Given the description of an element on the screen output the (x, y) to click on. 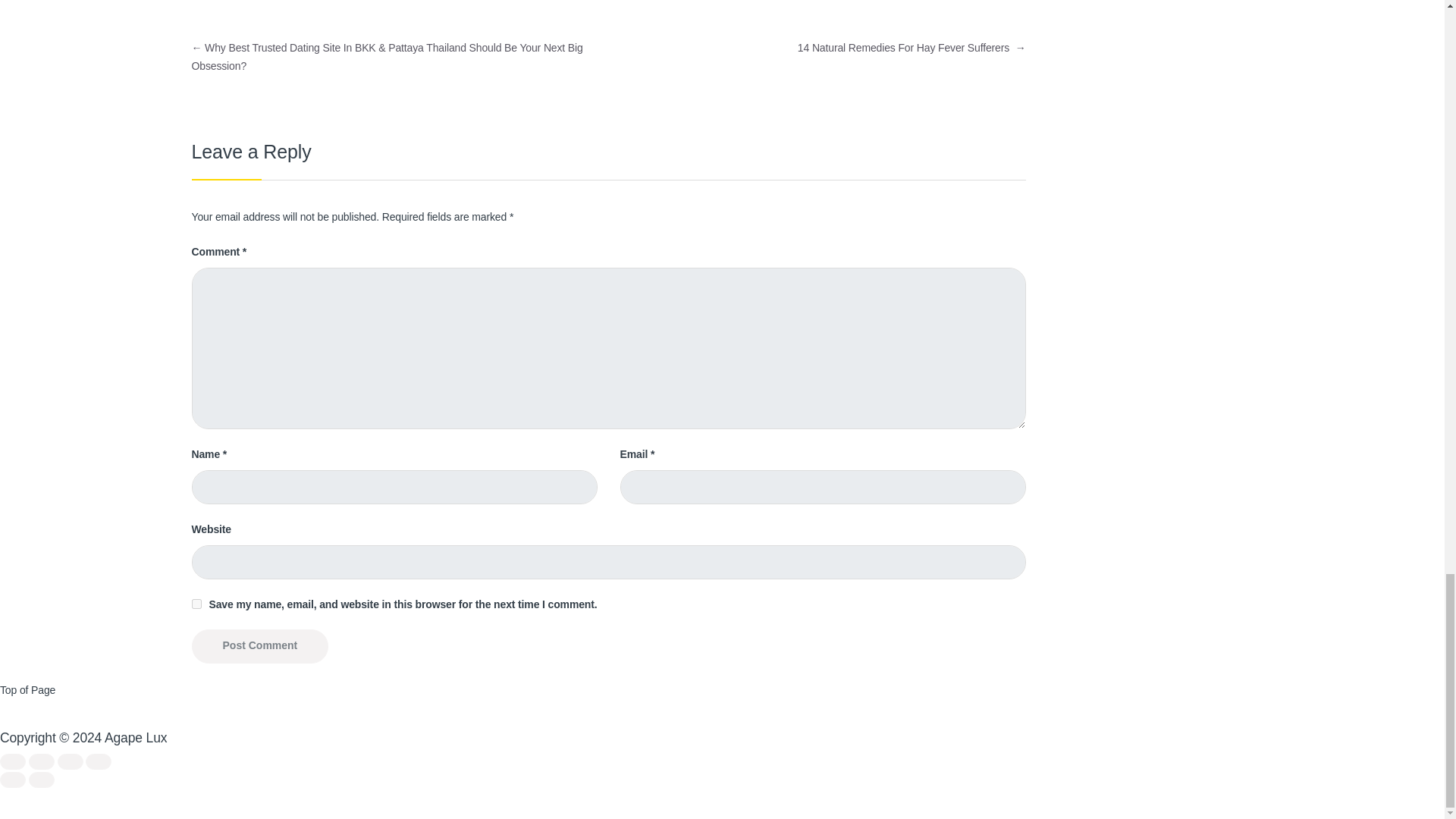
Post Comment (259, 646)
Post Comment (259, 646)
Agape Lux (135, 737)
yes (195, 603)
